Given the description of an element on the screen output the (x, y) to click on. 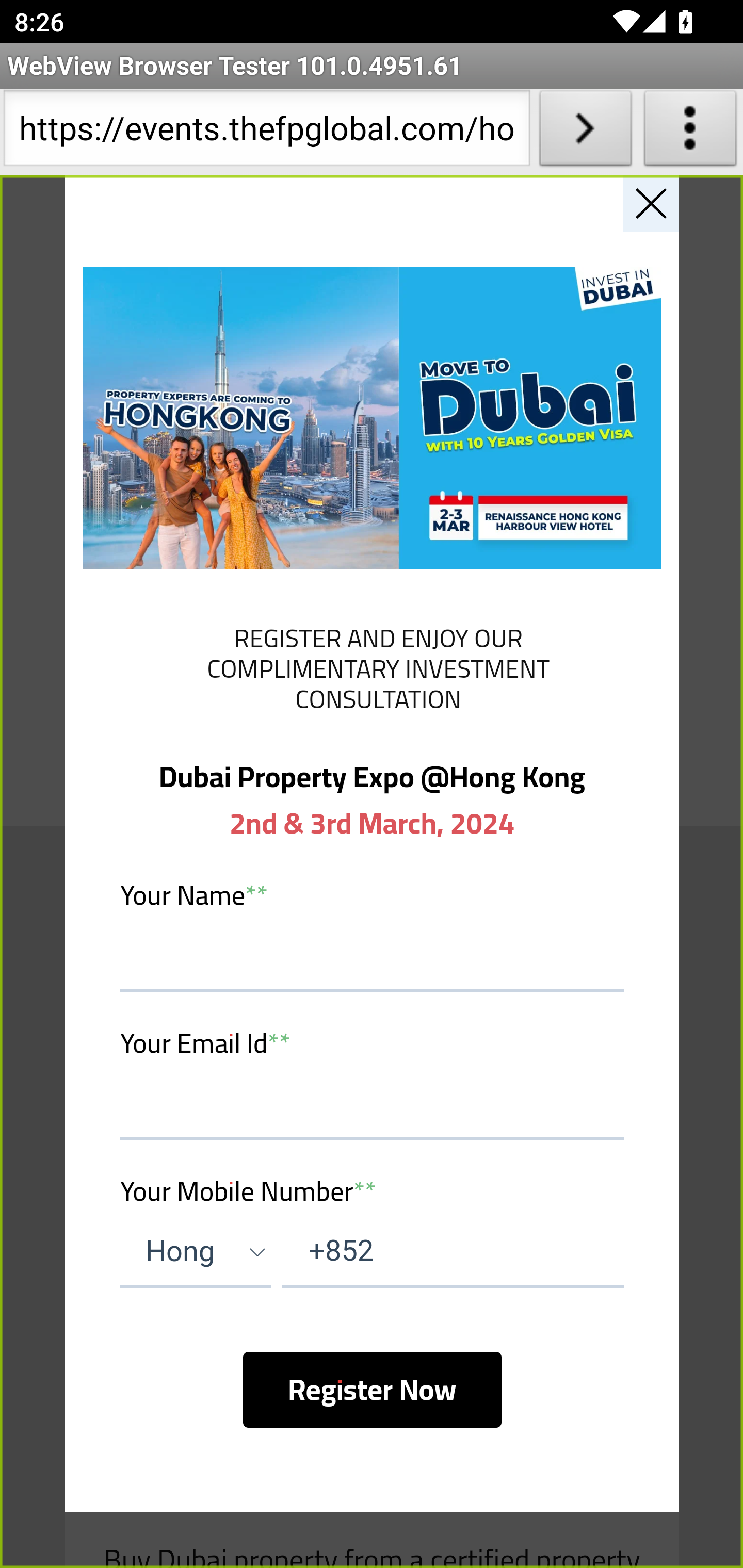
Load URL (585, 132)
About WebView (690, 132)
 REGISTER NOW (371, 666)
Hong Kong (香港) (195, 1251)
+852  (451, 1251)
Register Now (372, 1389)
